Given the description of an element on the screen output the (x, y) to click on. 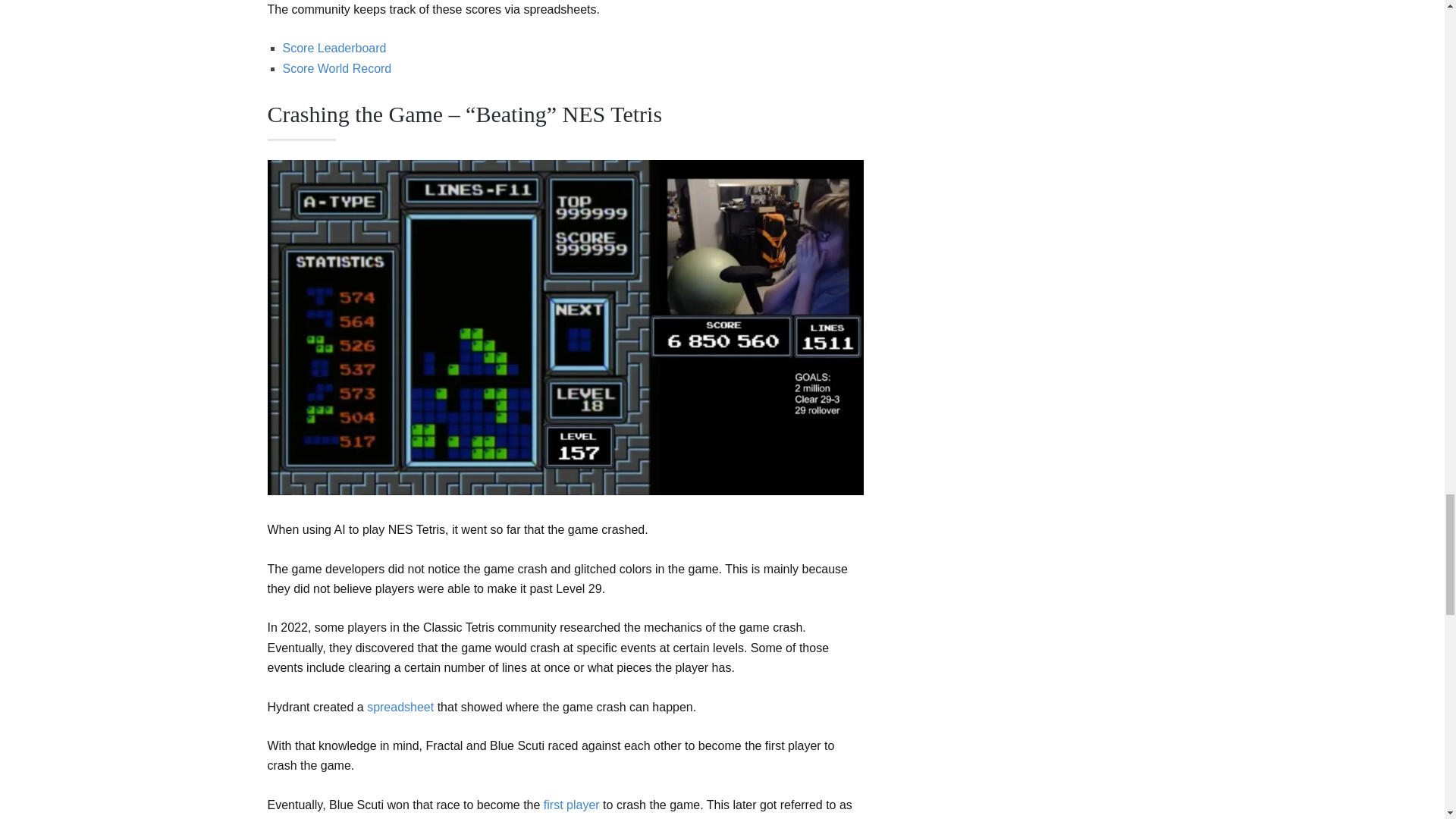
Score World Record (336, 68)
spreadsheet (399, 707)
first player (571, 804)
Score Leaderboard (333, 47)
